Given the description of an element on the screen output the (x, y) to click on. 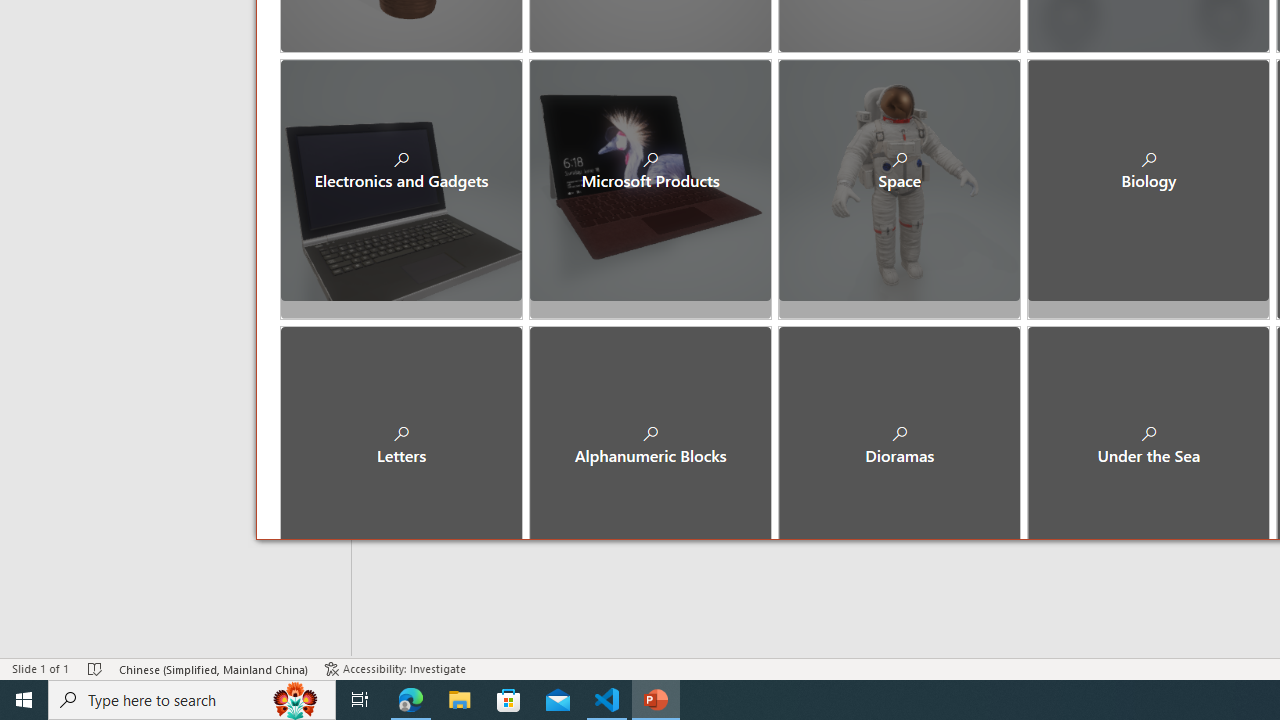
Under the Sea (1147, 429)
Space (899, 179)
